Given the description of an element on the screen output the (x, y) to click on. 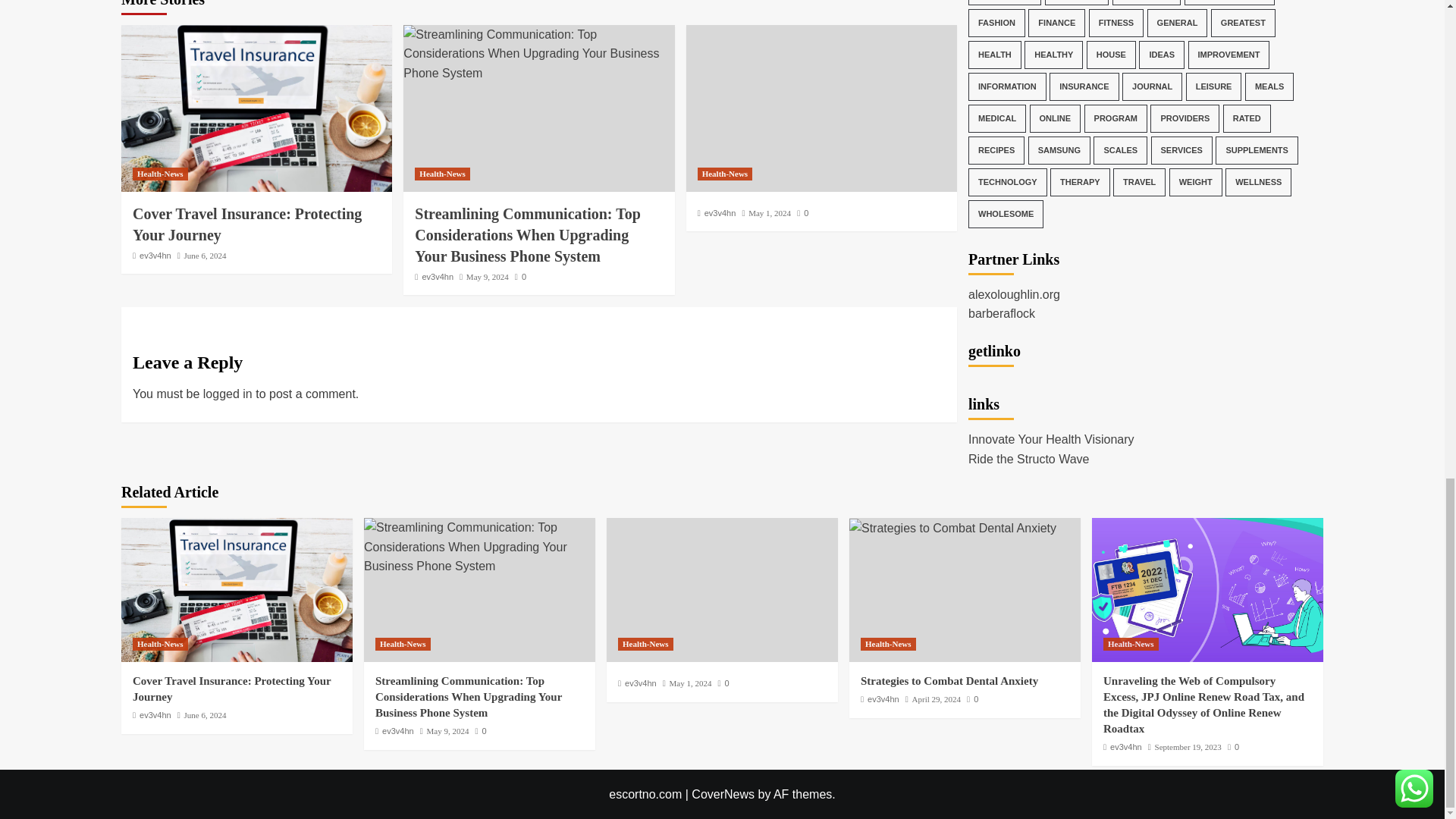
May 9, 2024 (486, 276)
Health-News (442, 173)
Health-News (159, 173)
Cover Travel Insurance: Protecting Your Journey (255, 108)
June 6, 2024 (205, 255)
ev3v4hn (437, 276)
0 (520, 276)
Cover Travel Insurance: Protecting Your Journey (236, 589)
ev3v4hn (155, 255)
Cover Travel Insurance: Protecting Your Journey (246, 224)
